Given the description of an element on the screen output the (x, y) to click on. 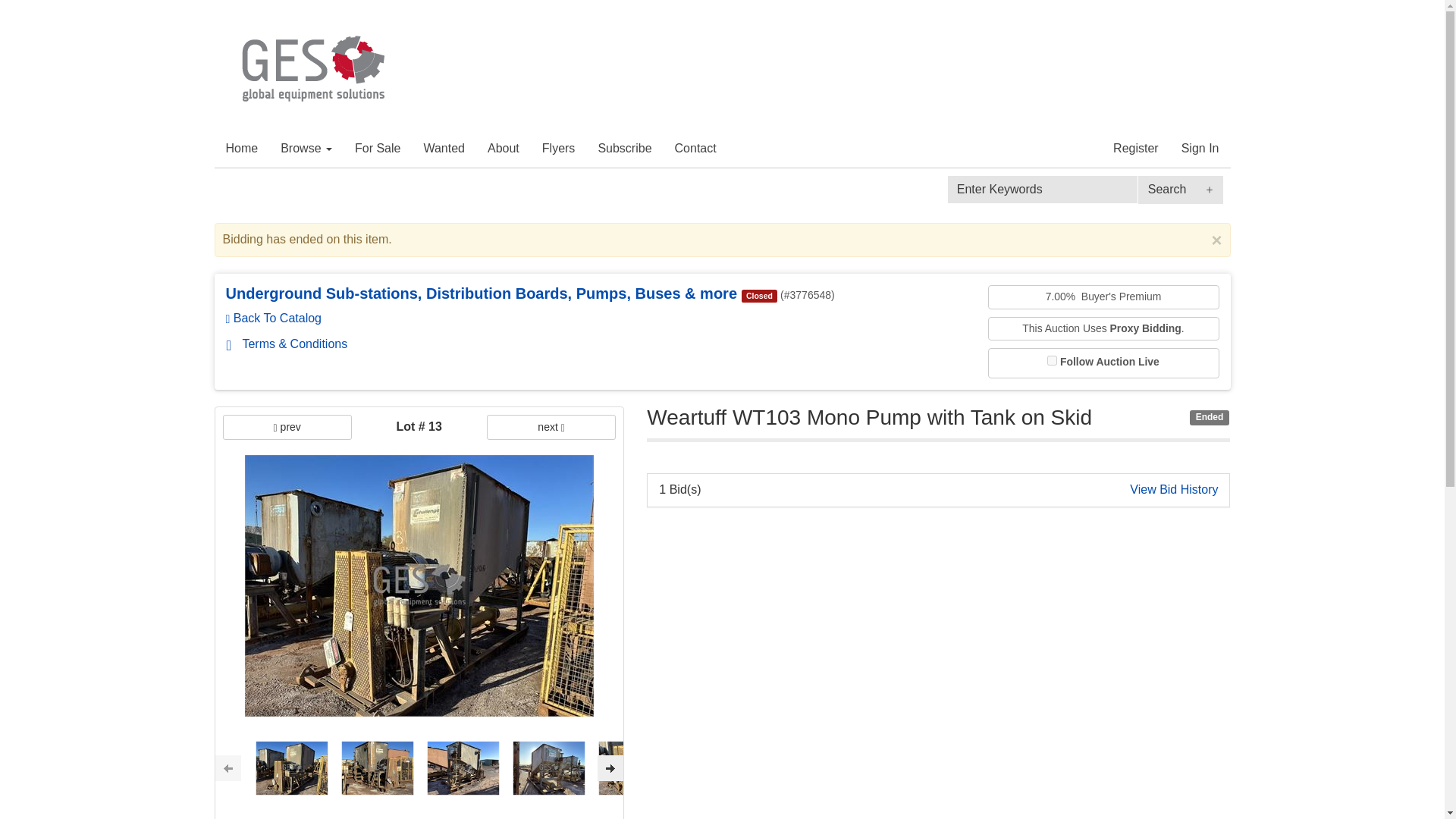
Subscribe (624, 148)
Wanted (444, 148)
Sign In (1200, 148)
Flyers (558, 148)
on (1051, 360)
Register (1136, 148)
For Sale (377, 148)
Browse (306, 148)
Contact (695, 148)
Home (241, 148)
About (503, 148)
